Given the description of an element on the screen output the (x, y) to click on. 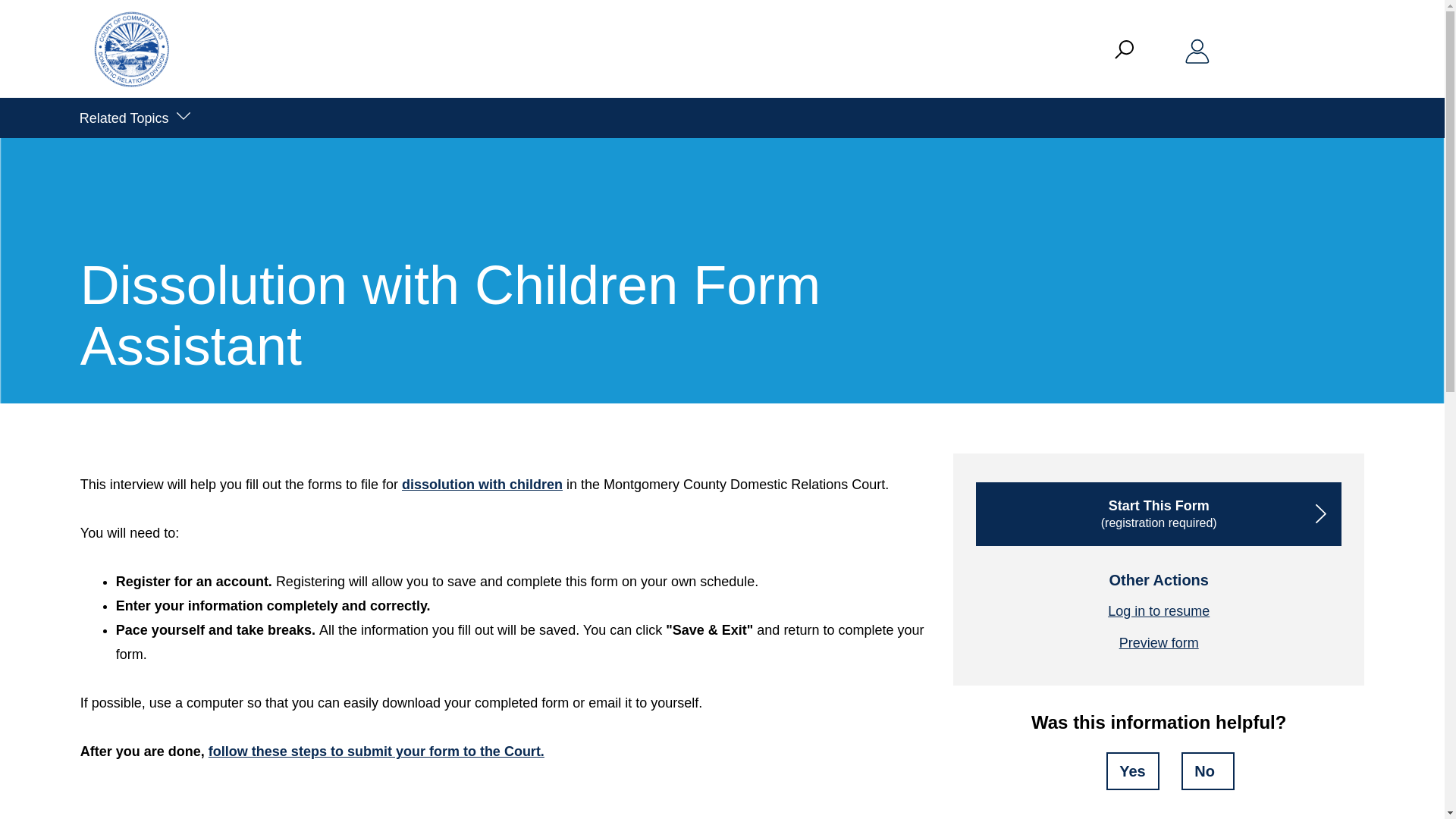
follow these steps to submit your form to the Court. (376, 751)
Related Topics (133, 118)
Preview form (1158, 642)
dissolution with children (481, 484)
Log in to resume (1158, 611)
